Given the description of an element on the screen output the (x, y) to click on. 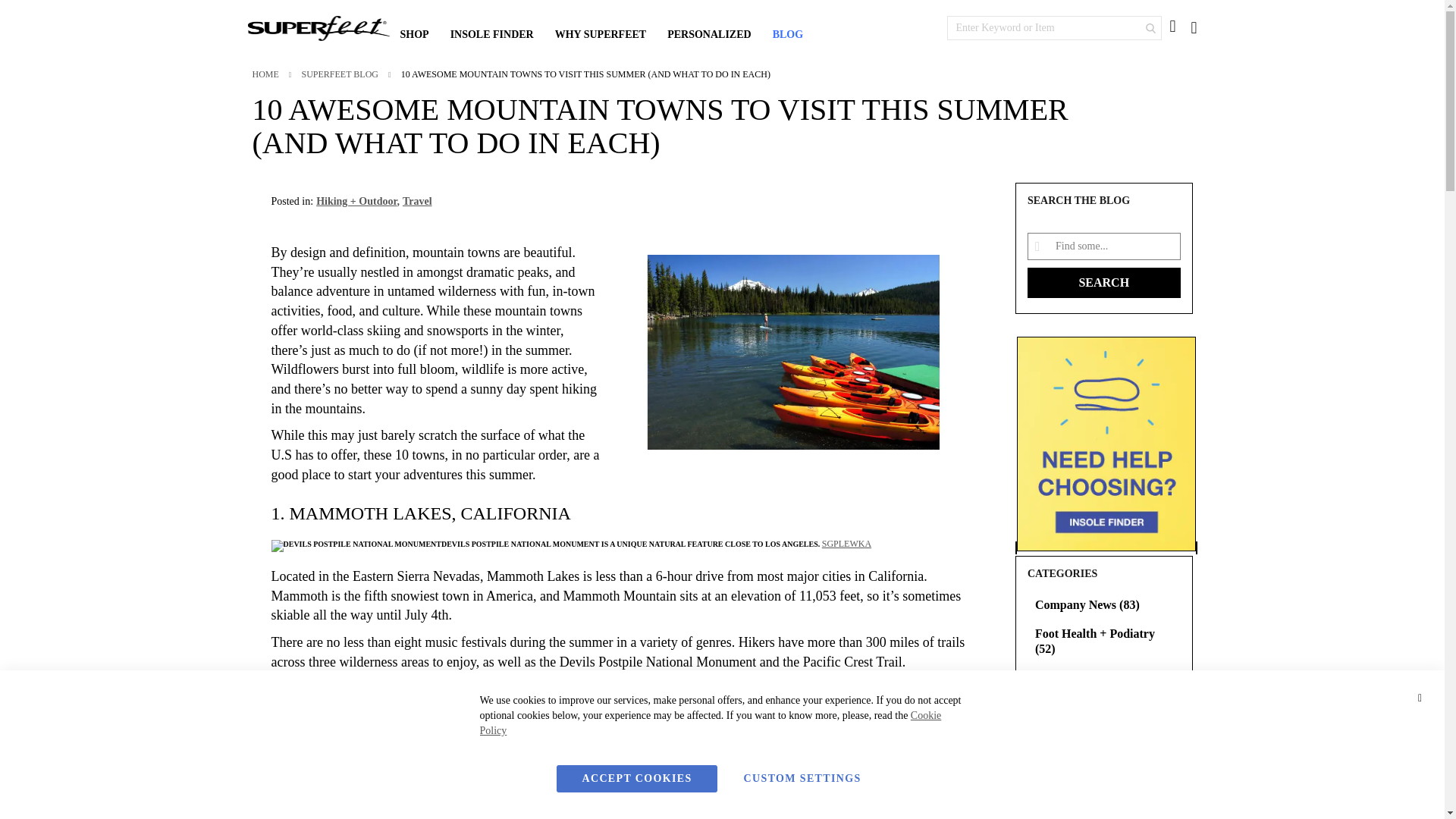
superfeet logo (317, 30)
Search (1149, 28)
BLOG (787, 34)
superfeet logo (317, 27)
SHOP (414, 34)
INSOLE FINDER (491, 34)
SUPERFEET BLOG (340, 73)
Travel (417, 201)
HOME (266, 73)
PERSONALIZED (708, 34)
WHY SUPERFEET (600, 34)
